Given the description of an element on the screen output the (x, y) to click on. 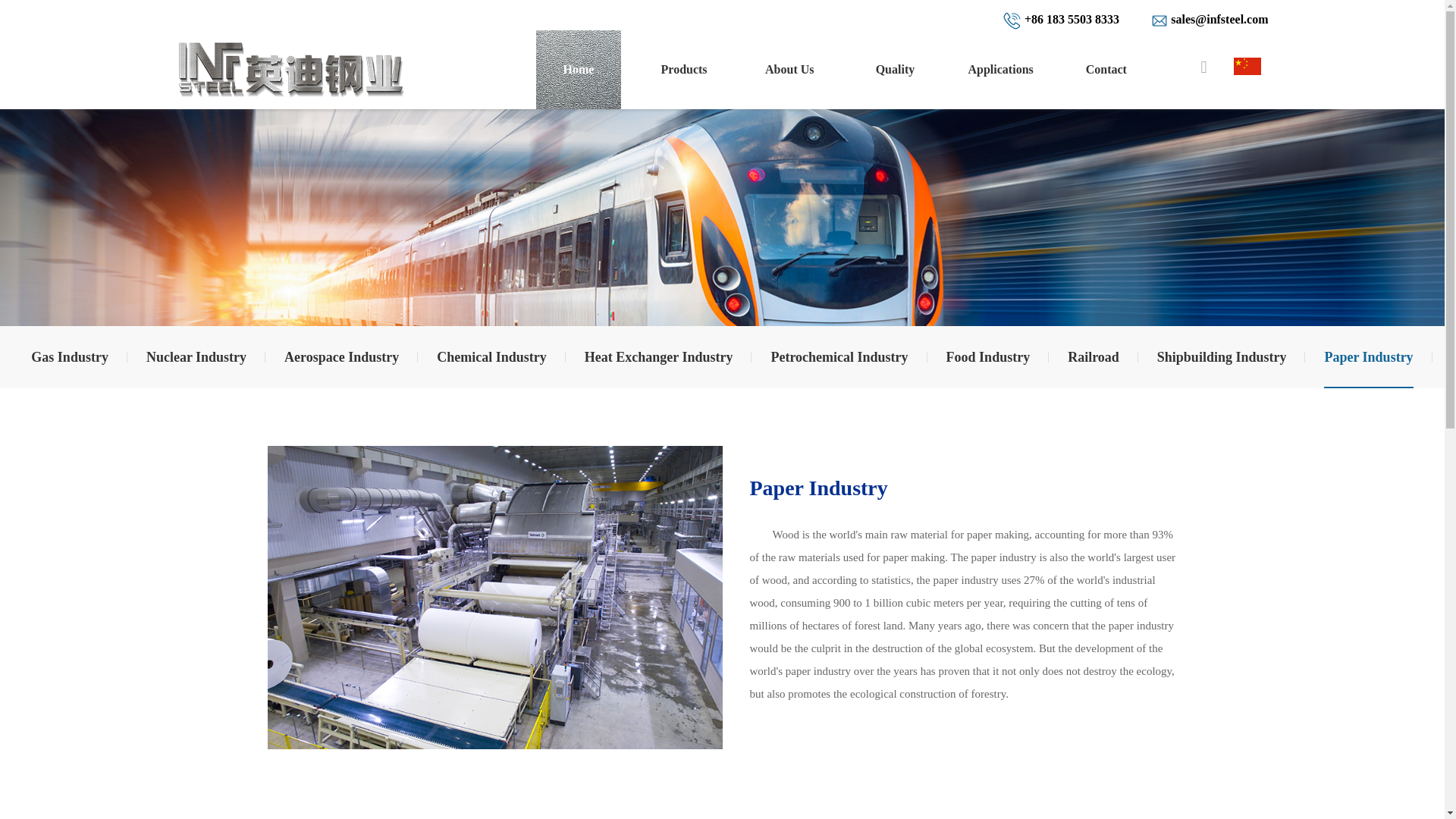
Shipbuilding Industry (1222, 356)
About Us (789, 69)
Gas Industry (68, 356)
Aerospace Industry (340, 356)
Quality (895, 69)
Petrochemical Industry (838, 356)
Nuclear Industry (196, 356)
Paper Industry (1367, 356)
Heat Exchanger Industry (659, 356)
Contact (1106, 69)
Food Industry (988, 356)
Applications (1000, 69)
Home (577, 69)
Products (683, 69)
Chemical Industry (491, 356)
